Given the description of an element on the screen output the (x, y) to click on. 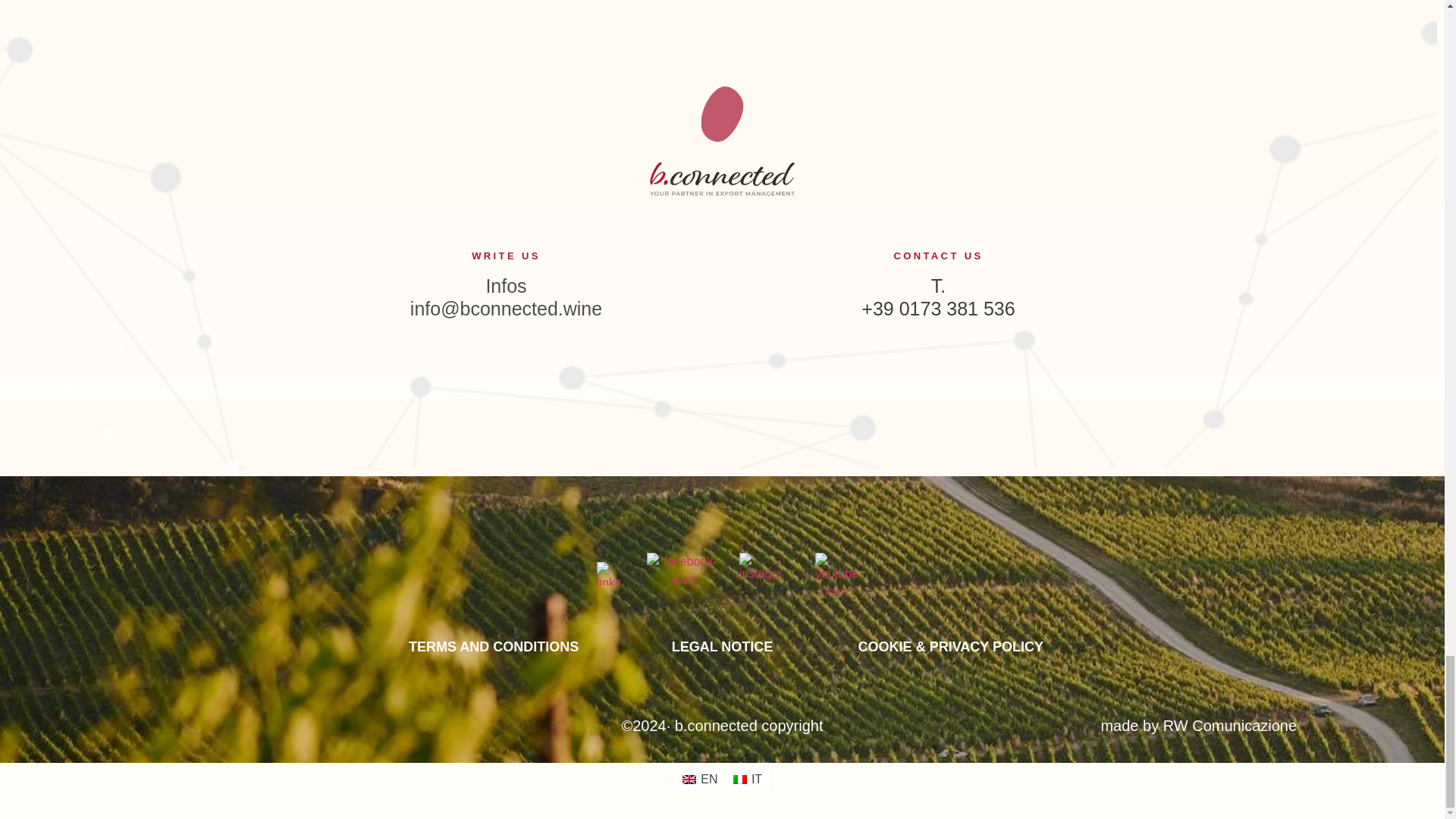
linkedin-icon (608, 573)
facebook-icon (684, 573)
youtube-icon (836, 573)
instagram (759, 573)
